Given the description of an element on the screen output the (x, y) to click on. 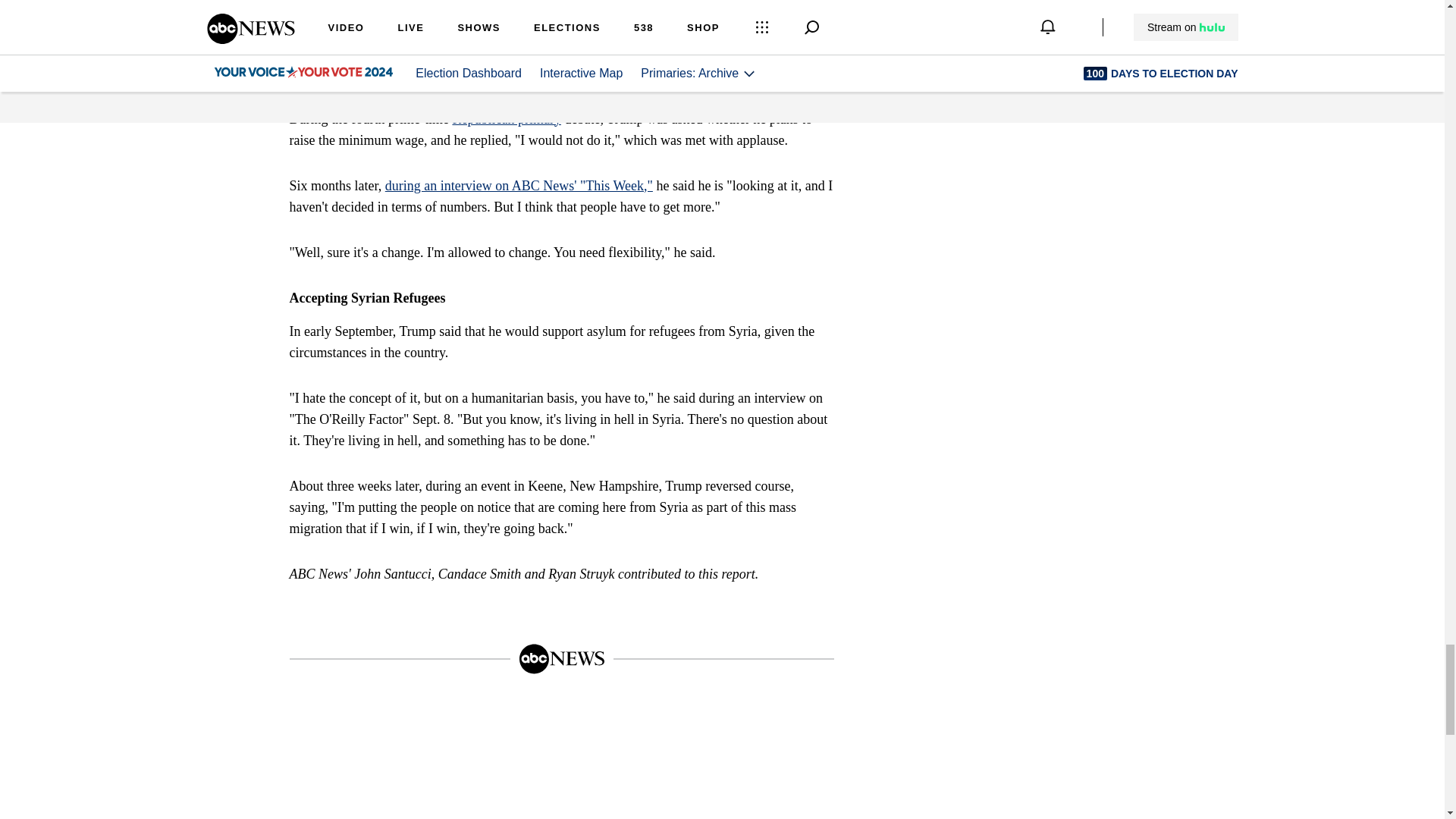
Minimum Wage (362, 84)
during an interview on ABC News' "This Week," (518, 184)
Republican primary (505, 118)
